Given the description of an element on the screen output the (x, y) to click on. 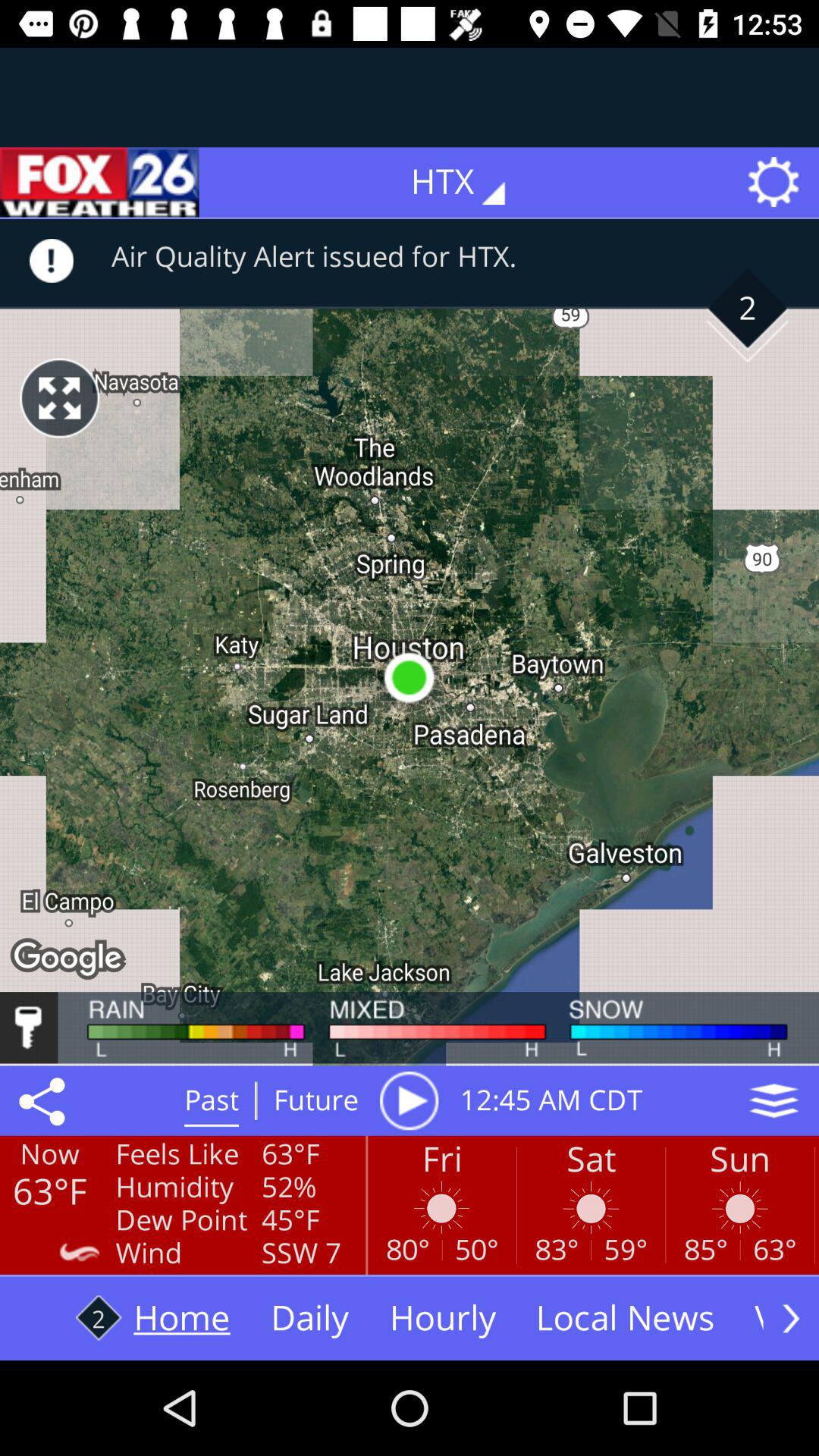
choose icon next to 2 item (59, 397)
